Given the description of an element on the screen output the (x, y) to click on. 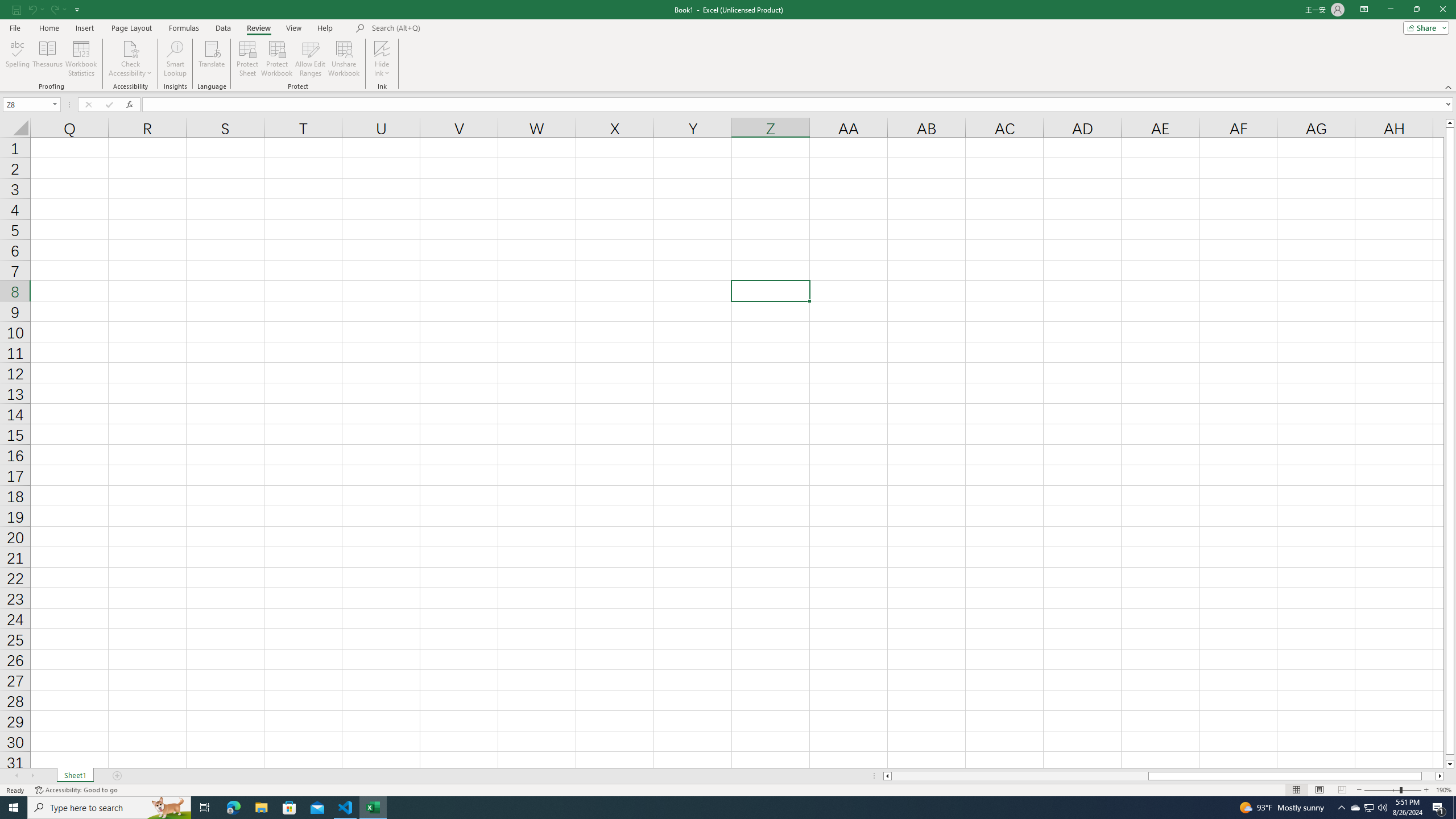
Workbook Statistics (81, 58)
Protect Workbook... (277, 58)
Thesaurus... (47, 58)
